Given the description of an element on the screen output the (x, y) to click on. 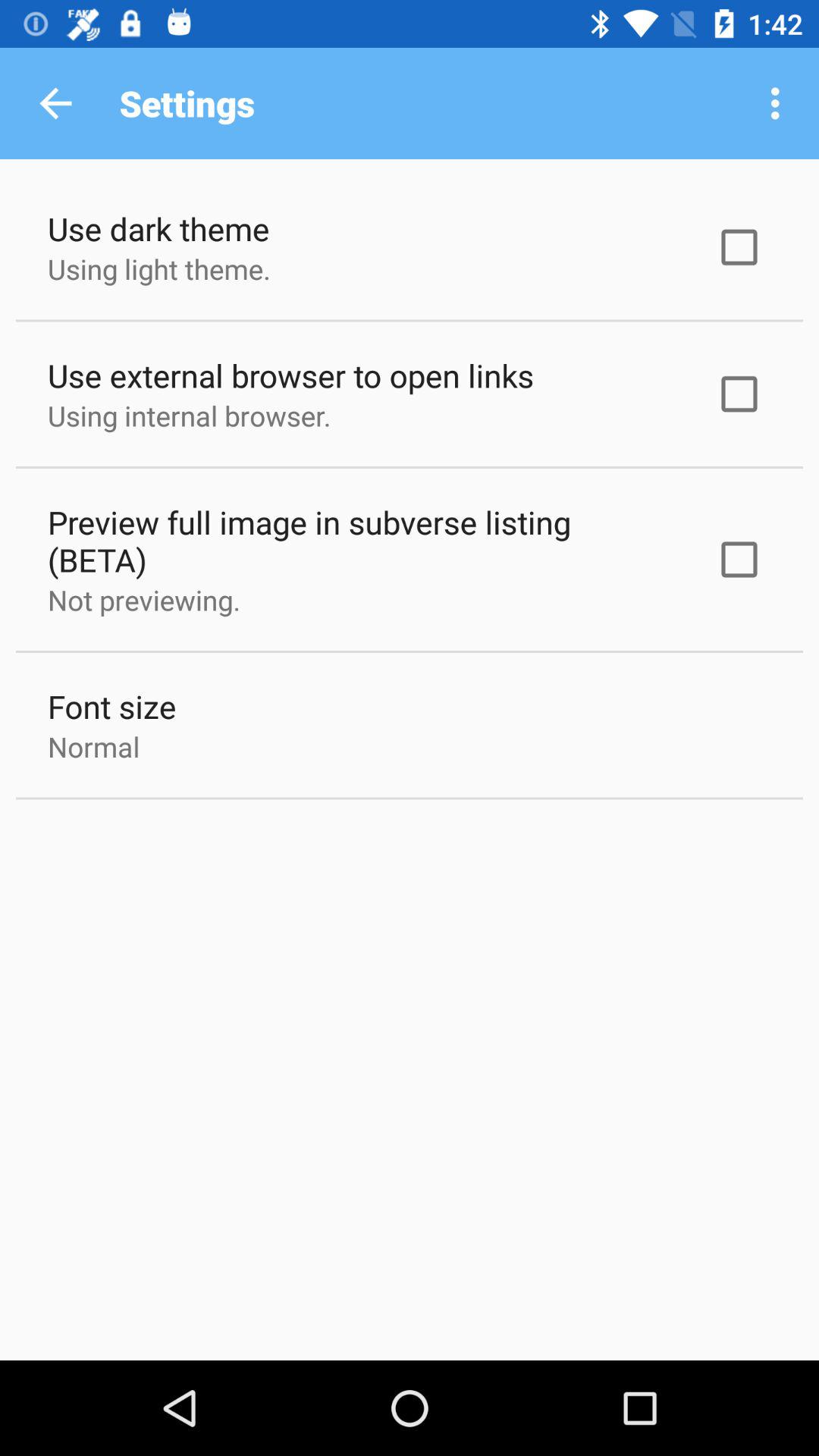
choose normal icon (93, 746)
